Given the description of an element on the screen output the (x, y) to click on. 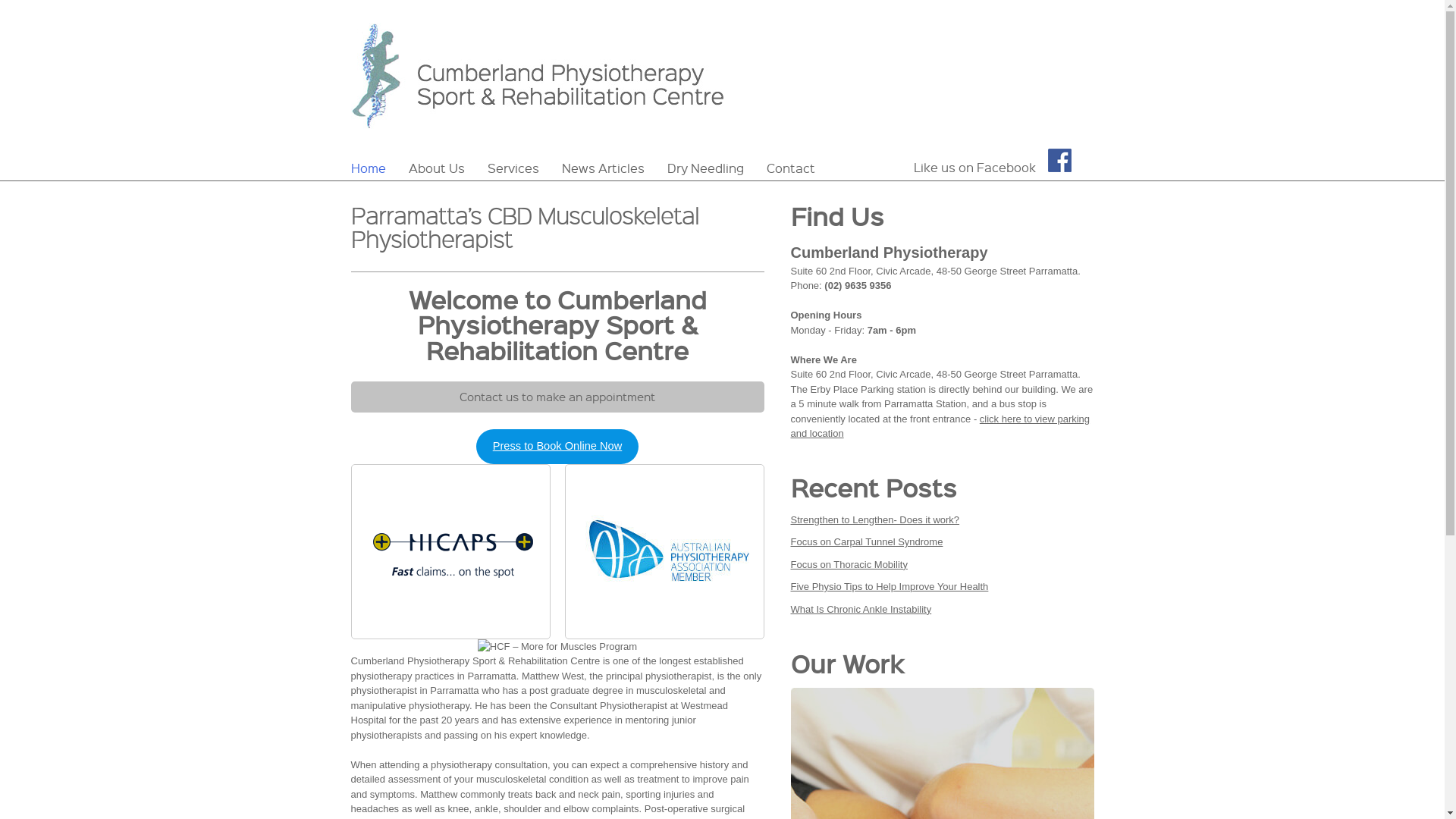
Press to Book Online Now Element type: text (557, 446)
Focus on Thoracic Mobility Element type: text (848, 564)
(02) 9635 9356 Element type: text (857, 285)
What Is Chronic Ankle Instability Element type: text (860, 609)
Services Element type: text (513, 167)
click here to view parking and location Element type: text (939, 426)
Like us on Facebook     Element type: text (991, 161)
Five Physio Tips to Help Improve Your Health Element type: text (889, 586)
Home Element type: text (373, 167)
Contact Element type: text (790, 167)
About Us Element type: text (436, 167)
Strengthen to Lengthen- Does it work? Element type: text (874, 519)
Contact us to make an appointment Element type: text (557, 396)
Focus on Carpal Tunnel Syndrome Element type: text (866, 541)
News Articles Element type: text (602, 167)
Dry Needling Element type: text (704, 167)
